Given the description of an element on the screen output the (x, y) to click on. 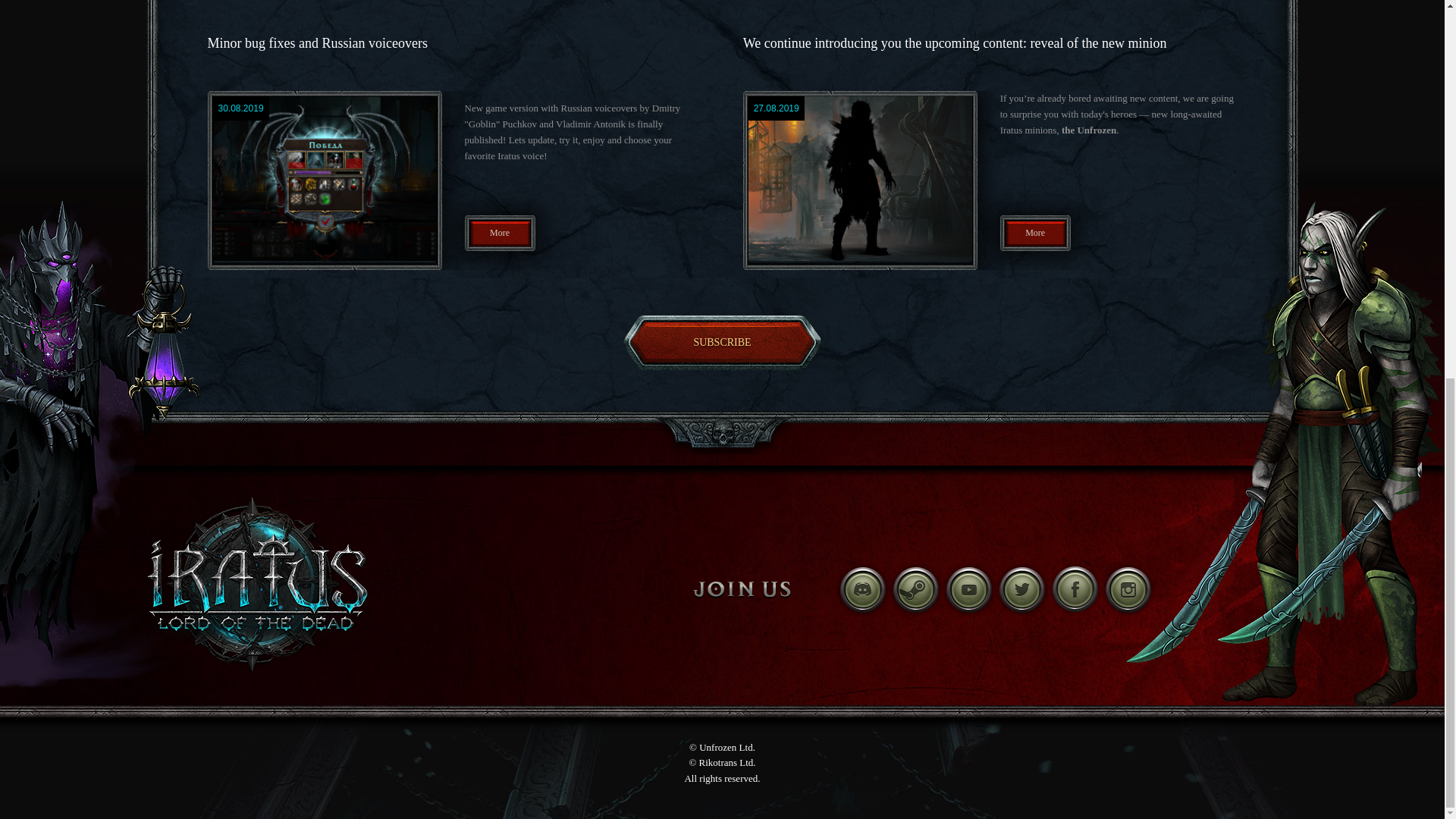
Minor bug fixes and Russian voiceovers (318, 43)
